Given the description of an element on the screen output the (x, y) to click on. 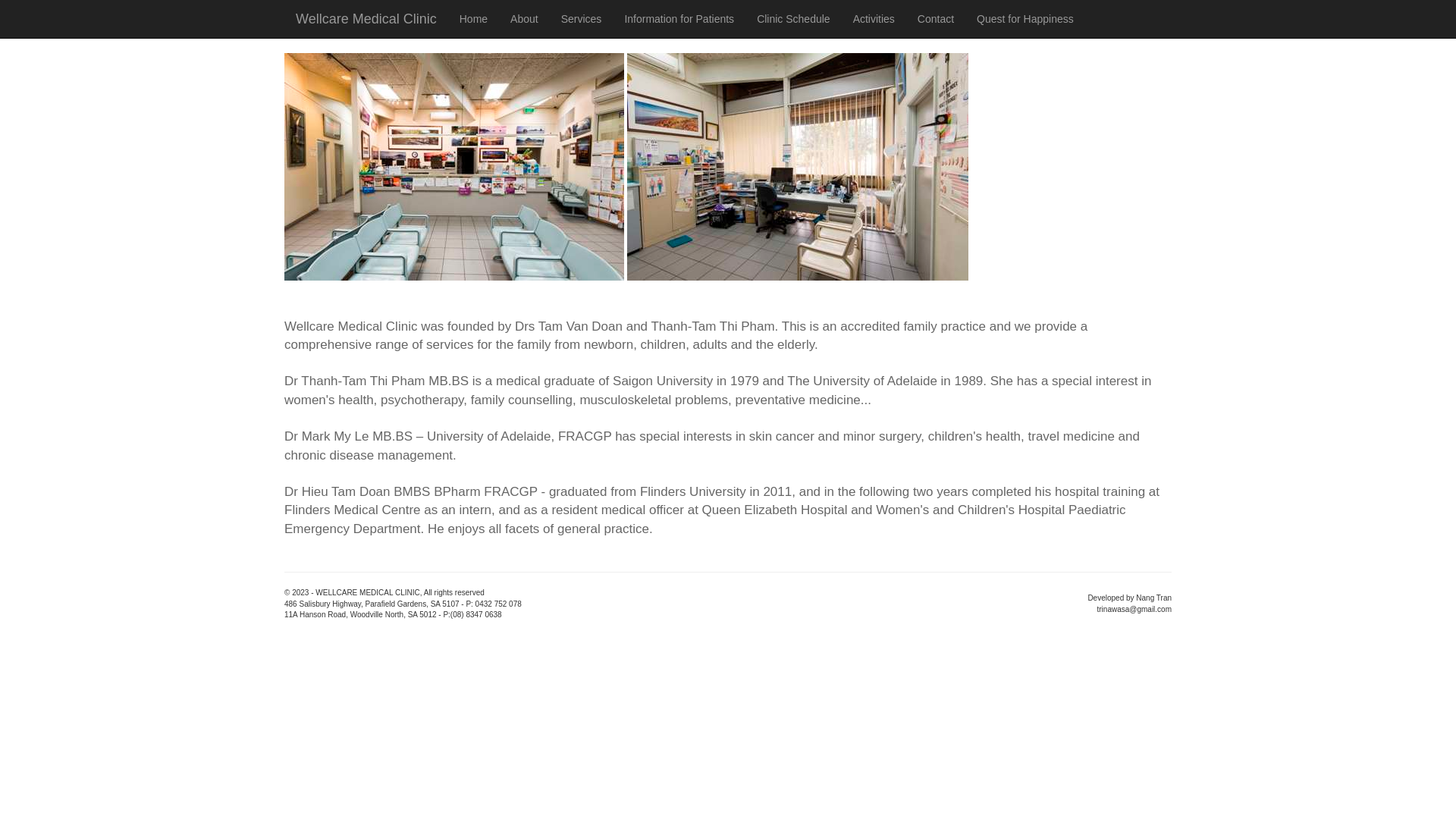
Activities Element type: text (873, 18)
Wellcare Medical Clinic Element type: text (366, 18)
Home Element type: text (473, 18)
Clinic Schedule Element type: text (793, 18)
About Element type: text (523, 18)
Information for Patients Element type: text (678, 18)
Contact Element type: text (935, 18)
Services Element type: text (581, 18)
Quest for Happiness Element type: text (1025, 18)
